Given the description of an element on the screen output the (x, y) to click on. 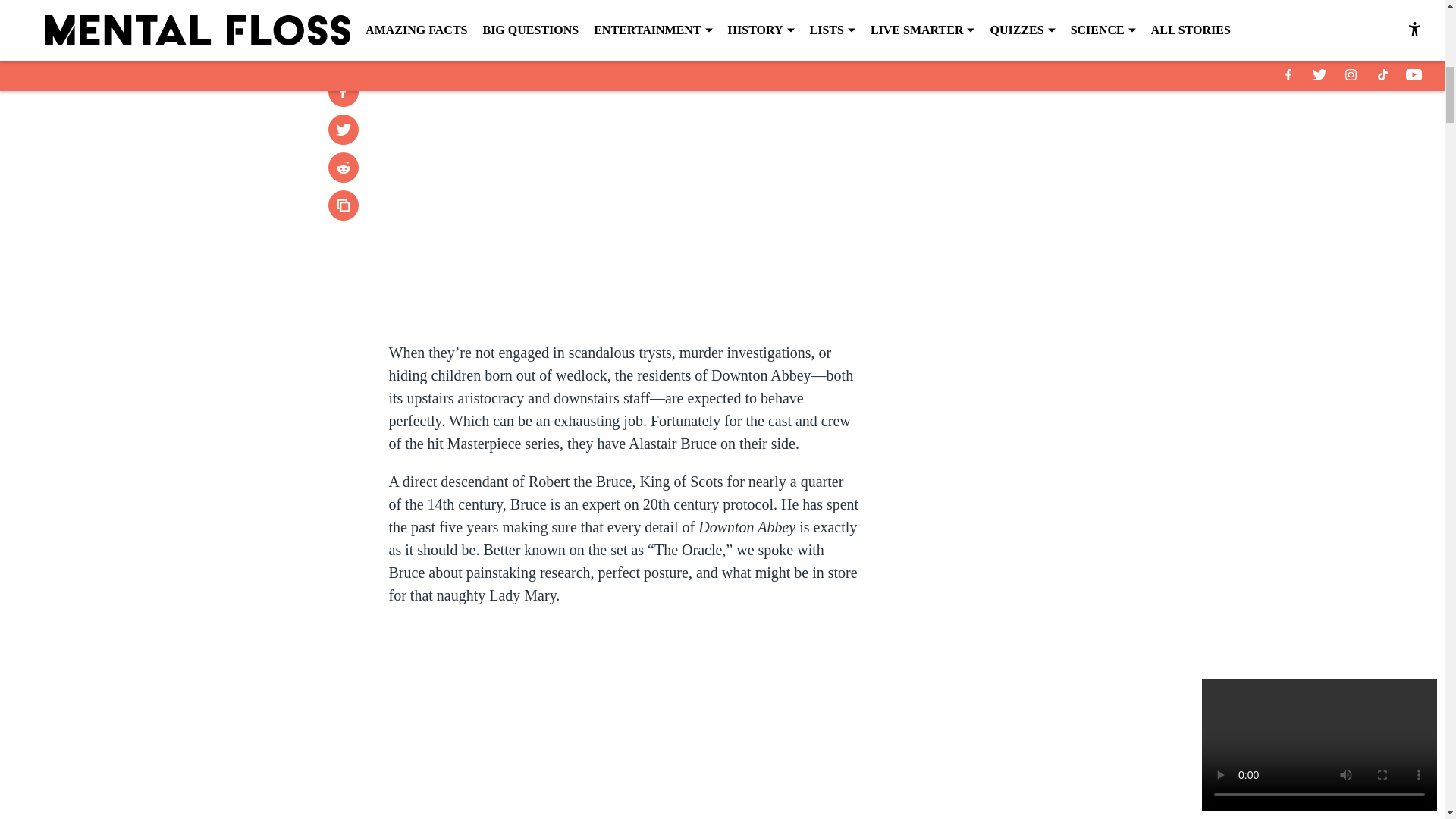
3rd party ad content (1047, 156)
3rd party ad content (1047, 376)
